Given the description of an element on the screen output the (x, y) to click on. 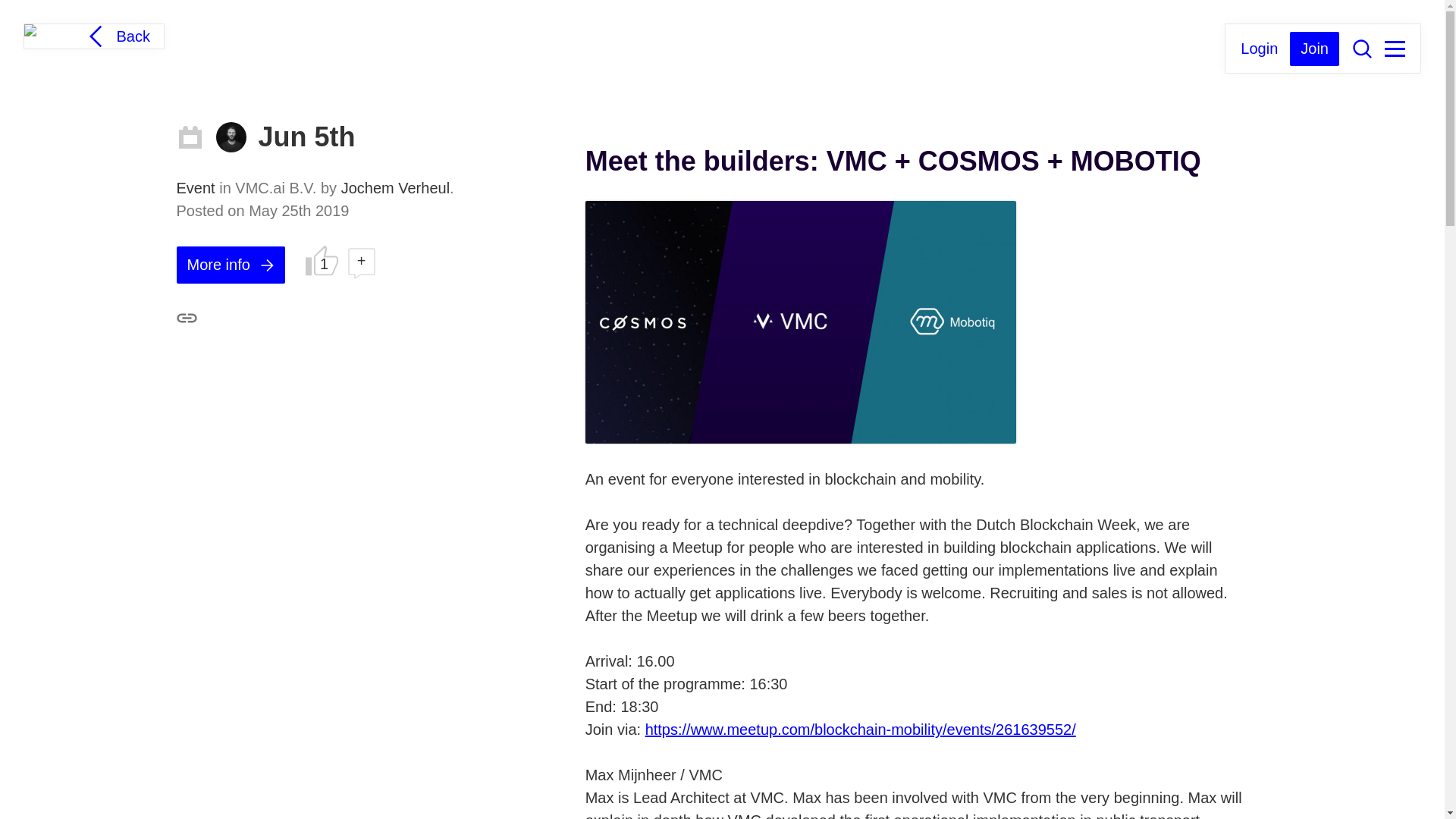
More info (229, 264)
Login (1259, 47)
Event (197, 187)
Jochem Verheul (230, 137)
Copy link to clipboard (186, 317)
Register (1314, 48)
Back (115, 36)
Login (1259, 47)
1 person liked this (321, 259)
1 (321, 259)
